Given the description of an element on the screen output the (x, y) to click on. 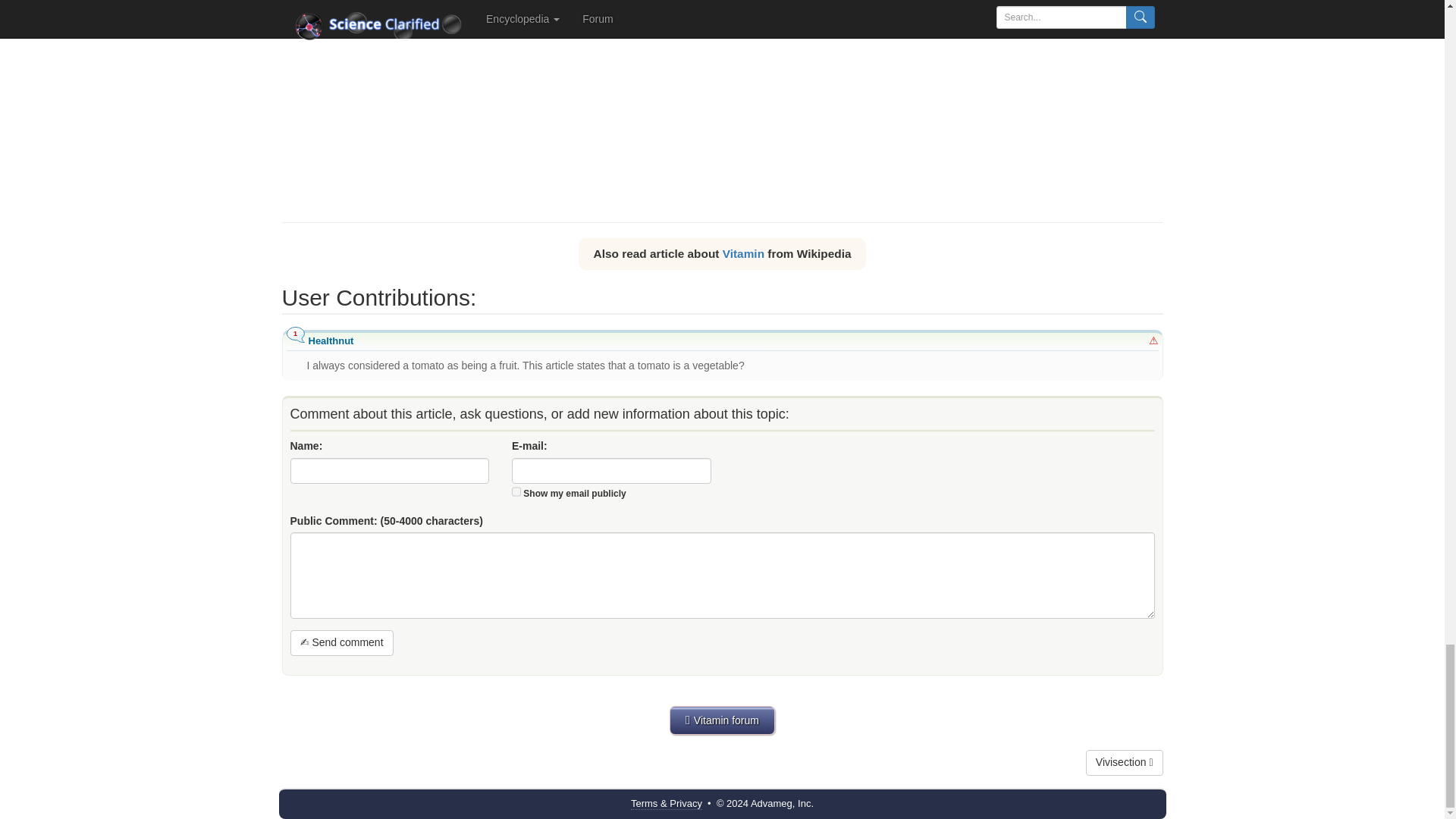
Vitamin (743, 253)
Vivisection (1124, 762)
Vitamin forum (721, 719)
1 (516, 491)
